Given the description of an element on the screen output the (x, y) to click on. 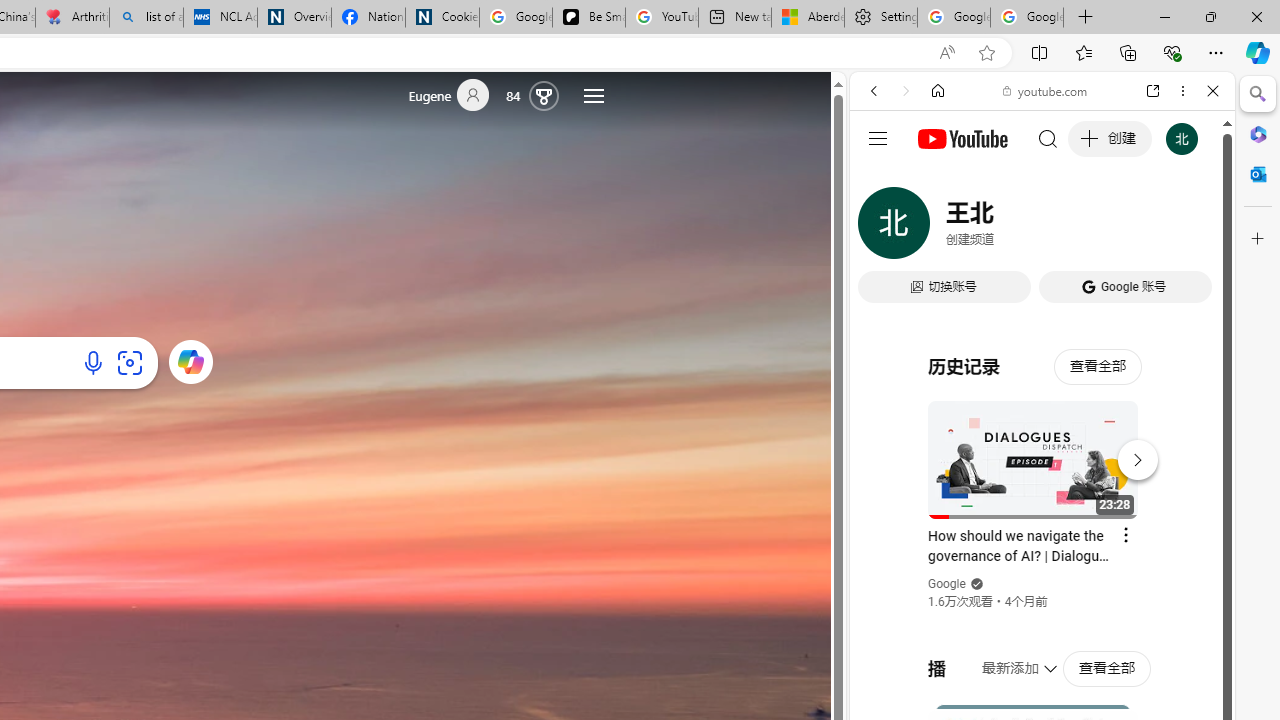
Animation (559, 78)
Microsoft Rewards 84 (537, 94)
